Given the description of an element on the screen output the (x, y) to click on. 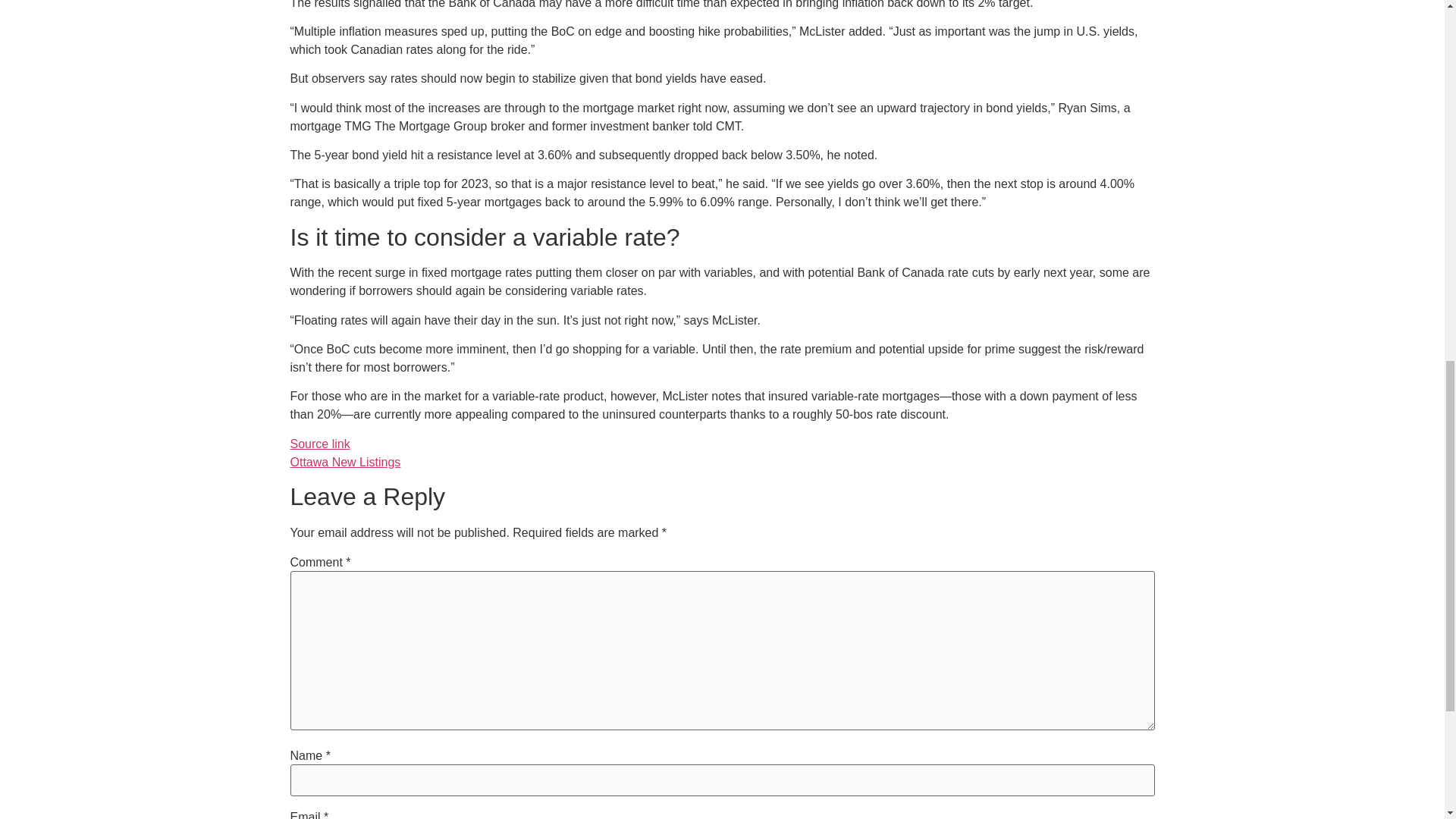
Source link (319, 443)
Ottawa New Listings (344, 461)
Ottawa New Listings (344, 461)
